Given the description of an element on the screen output the (x, y) to click on. 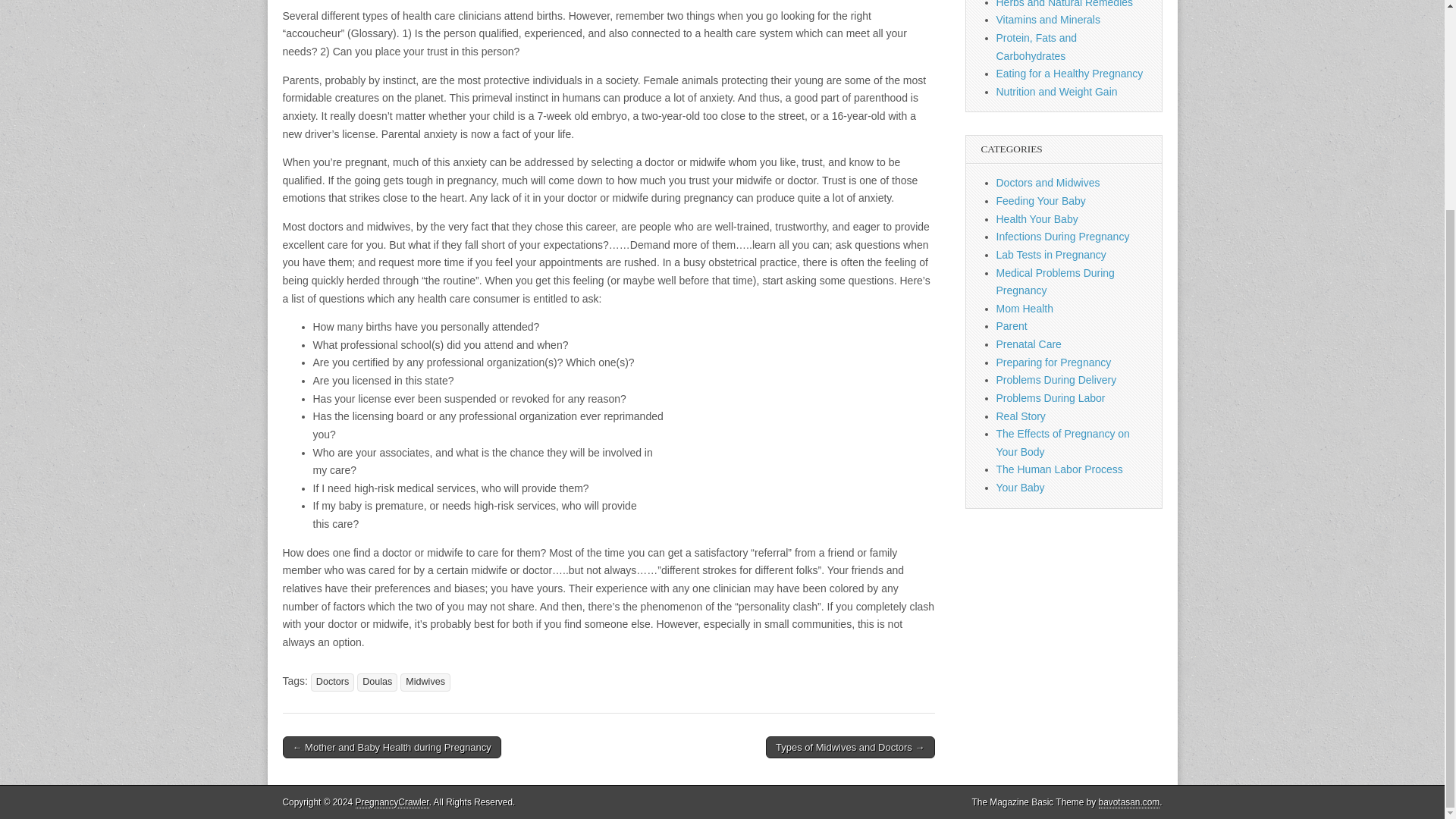
Nutrition and Weight Gain (1056, 91)
Eating for a Healthy Pregnancy (1068, 73)
Doctors and Midwives (1047, 182)
Real Story (1020, 416)
Your Baby (1020, 487)
Vitamins and Minerals (1047, 19)
Doctors (332, 682)
Feeding Your Baby (1040, 200)
bavotasan.com (1129, 802)
Doulas (376, 682)
PregnancyCrawler (392, 802)
Protein, Fats and Carbohydrates (1036, 46)
Infections During Pregnancy (1062, 236)
Medical Problems During Pregnancy (1055, 281)
Problems During Labor (1050, 398)
